Given the description of an element on the screen output the (x, y) to click on. 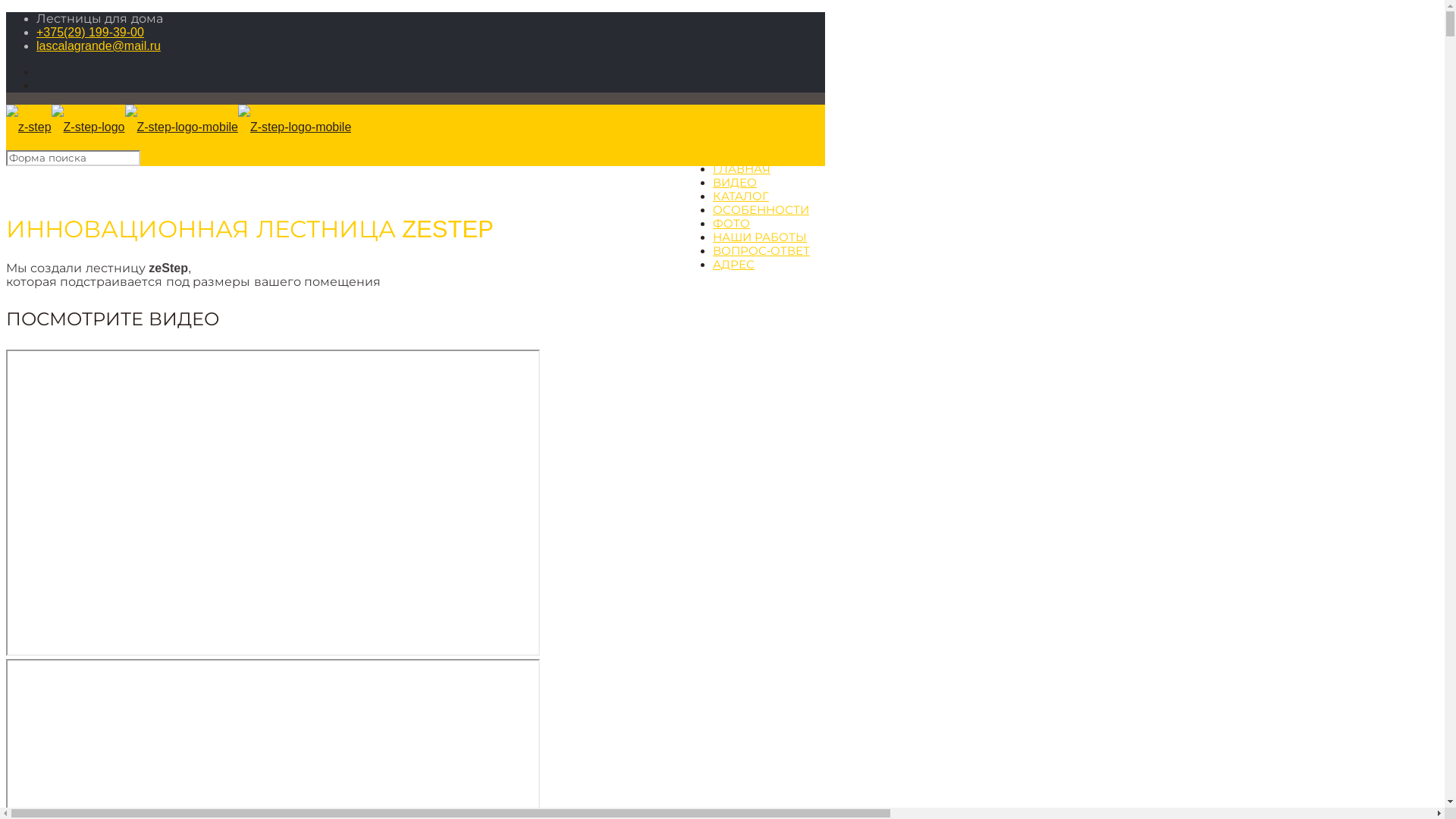
lascalagrande@mail.ru Element type: text (98, 45)
+375(29) 199-39-00 Element type: text (90, 31)
